Given the description of an element on the screen output the (x, y) to click on. 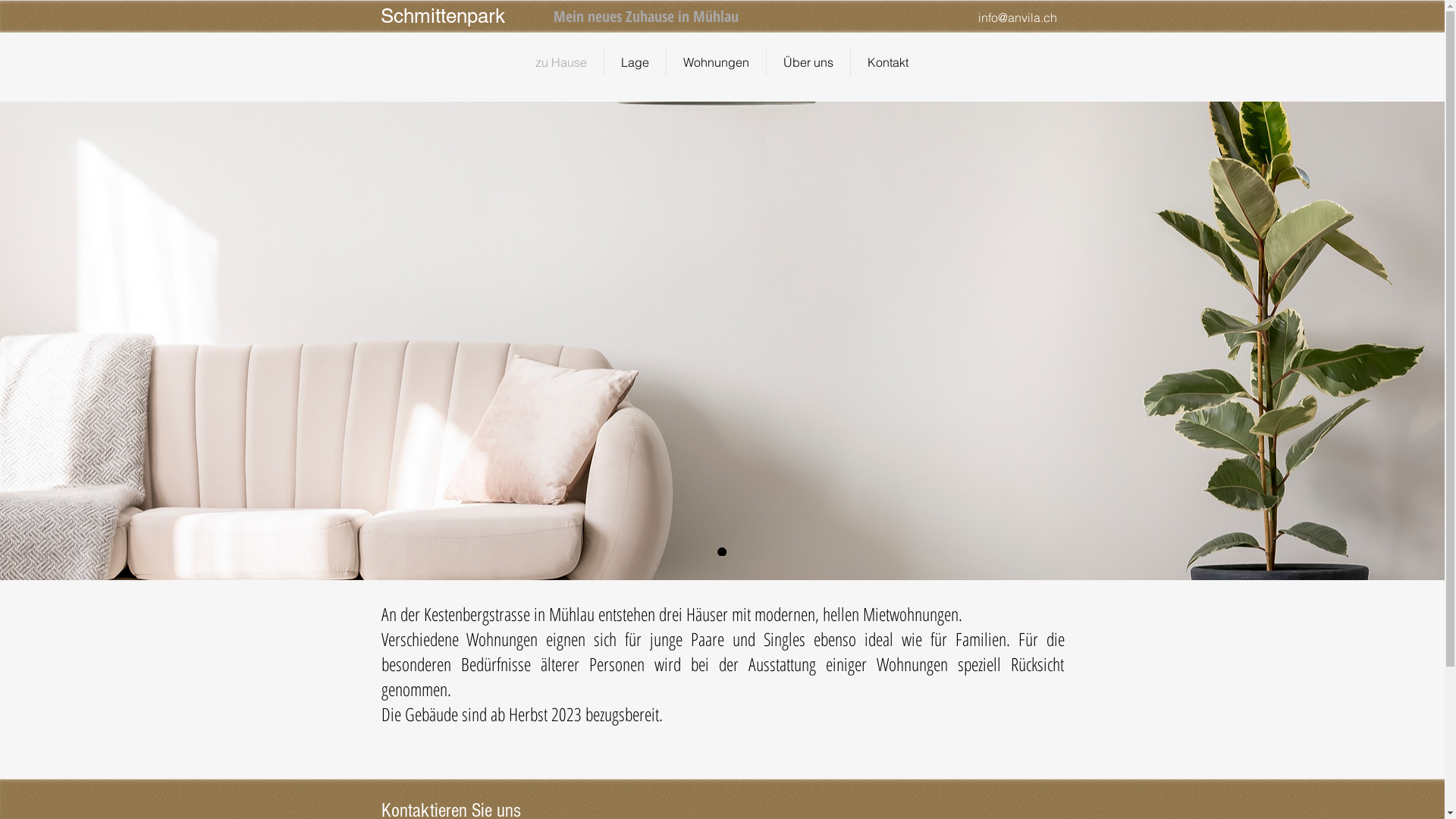
Kontakt Element type: text (887, 61)
Schmittenpark Element type: text (442, 15)
zu Hause Element type: text (560, 61)
Wohnungen Element type: text (715, 61)
Lage Element type: text (634, 61)
info@anvila.ch Element type: text (1017, 17)
